Given the description of an element on the screen output the (x, y) to click on. 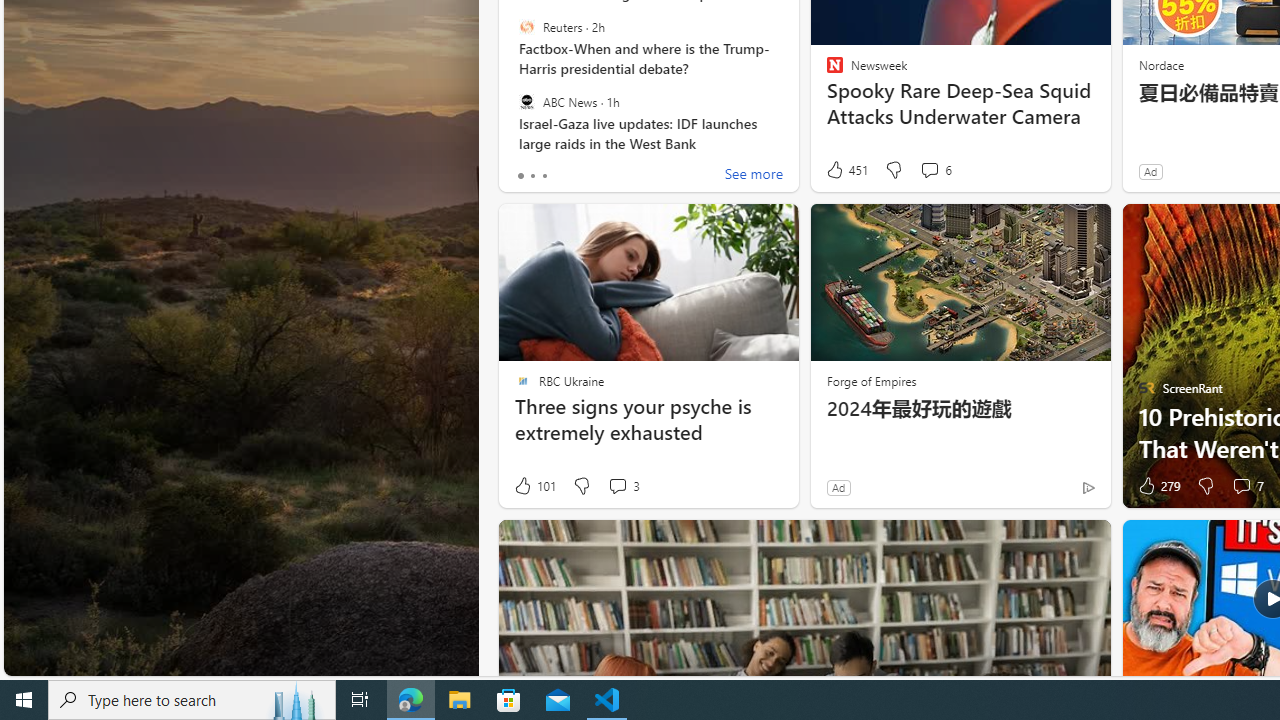
279 Like (1157, 485)
tab-2 (543, 175)
View comments 7 Comment (1247, 485)
View comments 7 Comment (1241, 485)
View comments 6 Comment (929, 169)
